Given the description of an element on the screen output the (x, y) to click on. 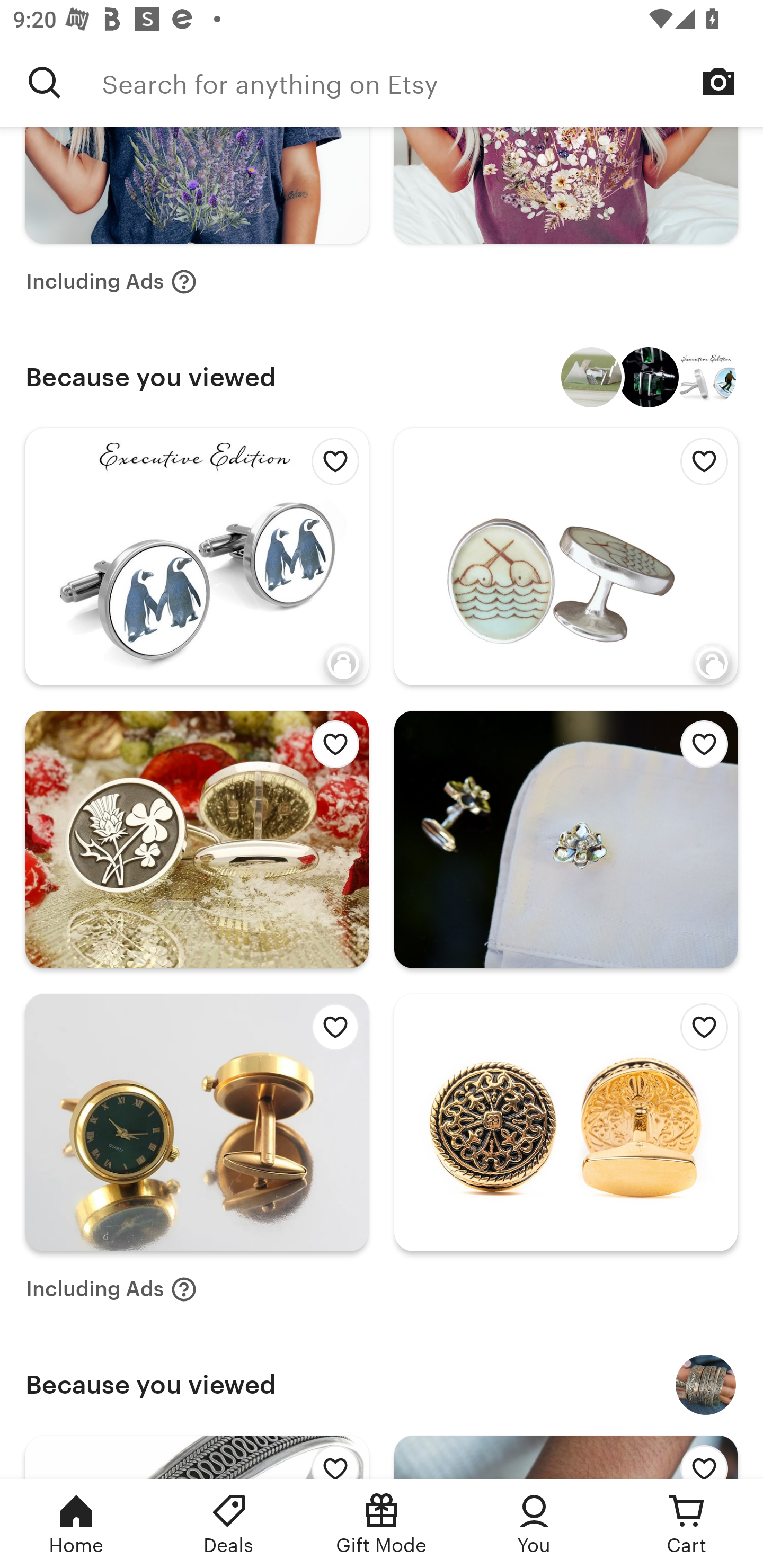
Search for anything on Etsy (44, 82)
Search by image (718, 81)
Search for anything on Etsy (432, 82)
Including Ads (111, 281)
Including Ads (111, 1289)
Deals (228, 1523)
Gift Mode (381, 1523)
You (533, 1523)
Cart (686, 1523)
